Given the description of an element on the screen output the (x, y) to click on. 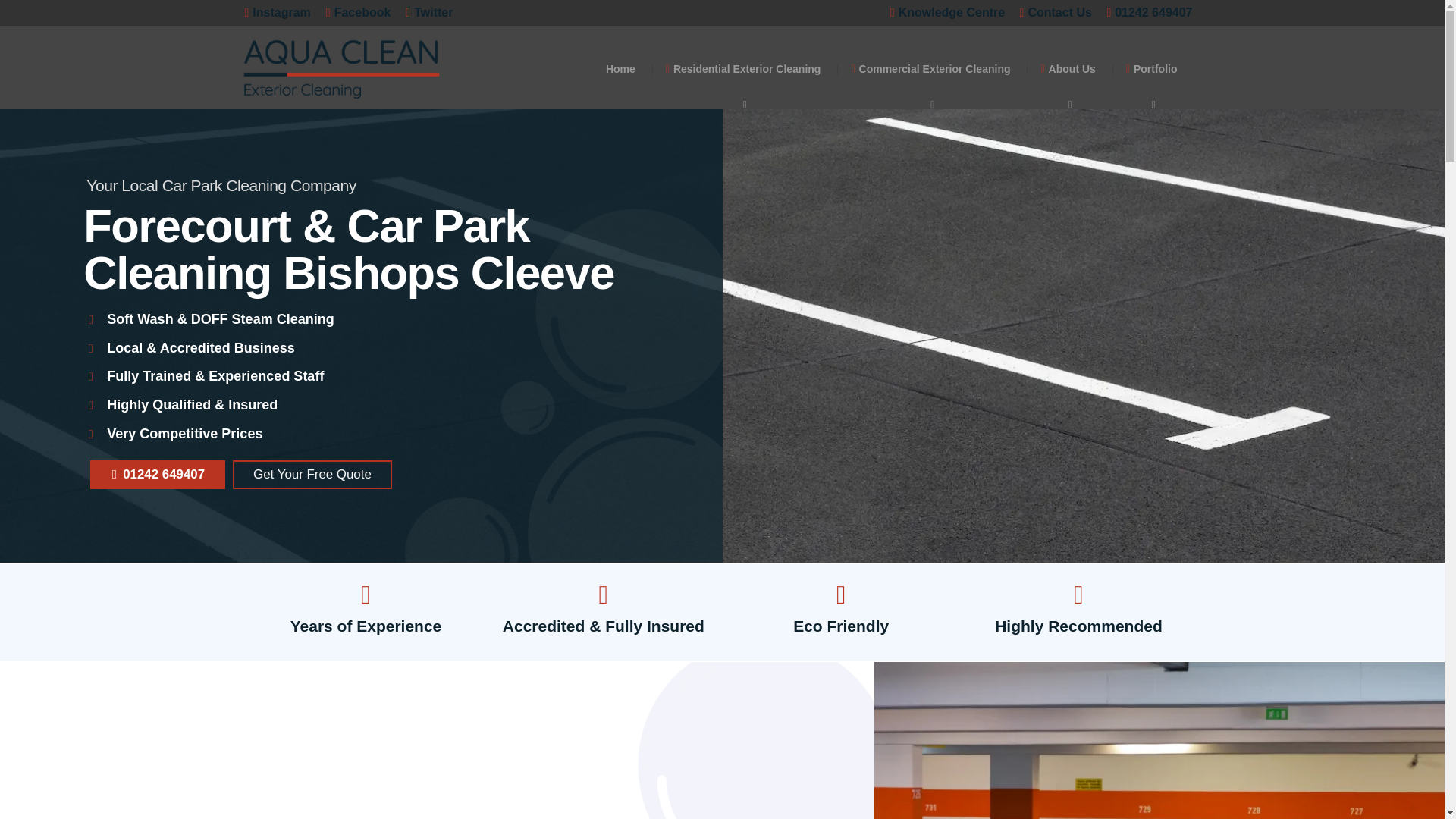
Twitter (429, 13)
About Us (1067, 68)
Highly Recommended (1077, 612)
Knowledge Centre (941, 12)
Portfolio (1151, 68)
Commercial Exterior Cleaning (930, 68)
01242 649407 (1143, 12)
Instagram (277, 13)
Residential Exterior Cleaning (742, 68)
Facebook (358, 13)
